Given the description of an element on the screen output the (x, y) to click on. 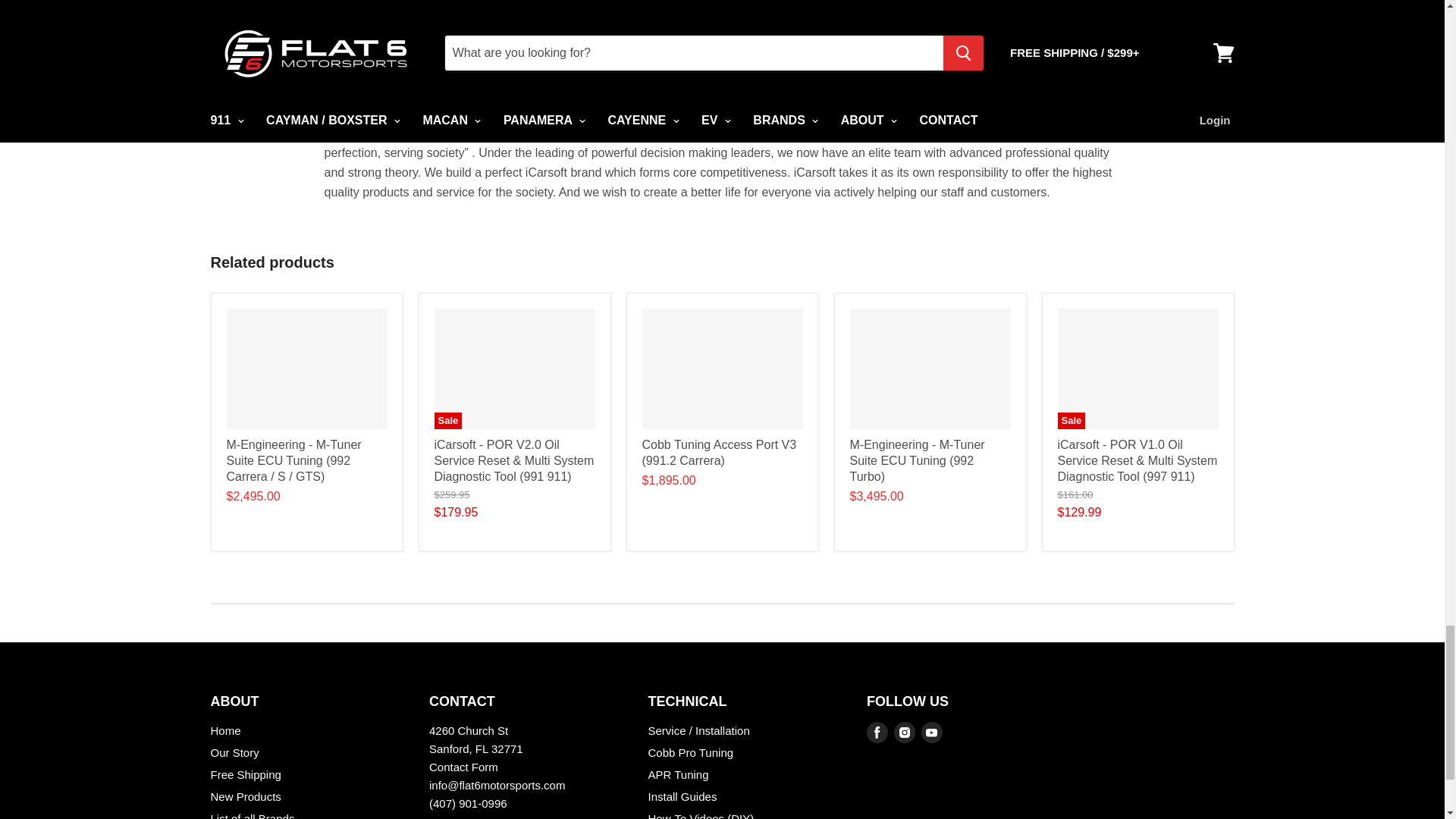
Facebook (877, 732)
Youtube (931, 732)
Instagram (904, 732)
